Given the description of an element on the screen output the (x, y) to click on. 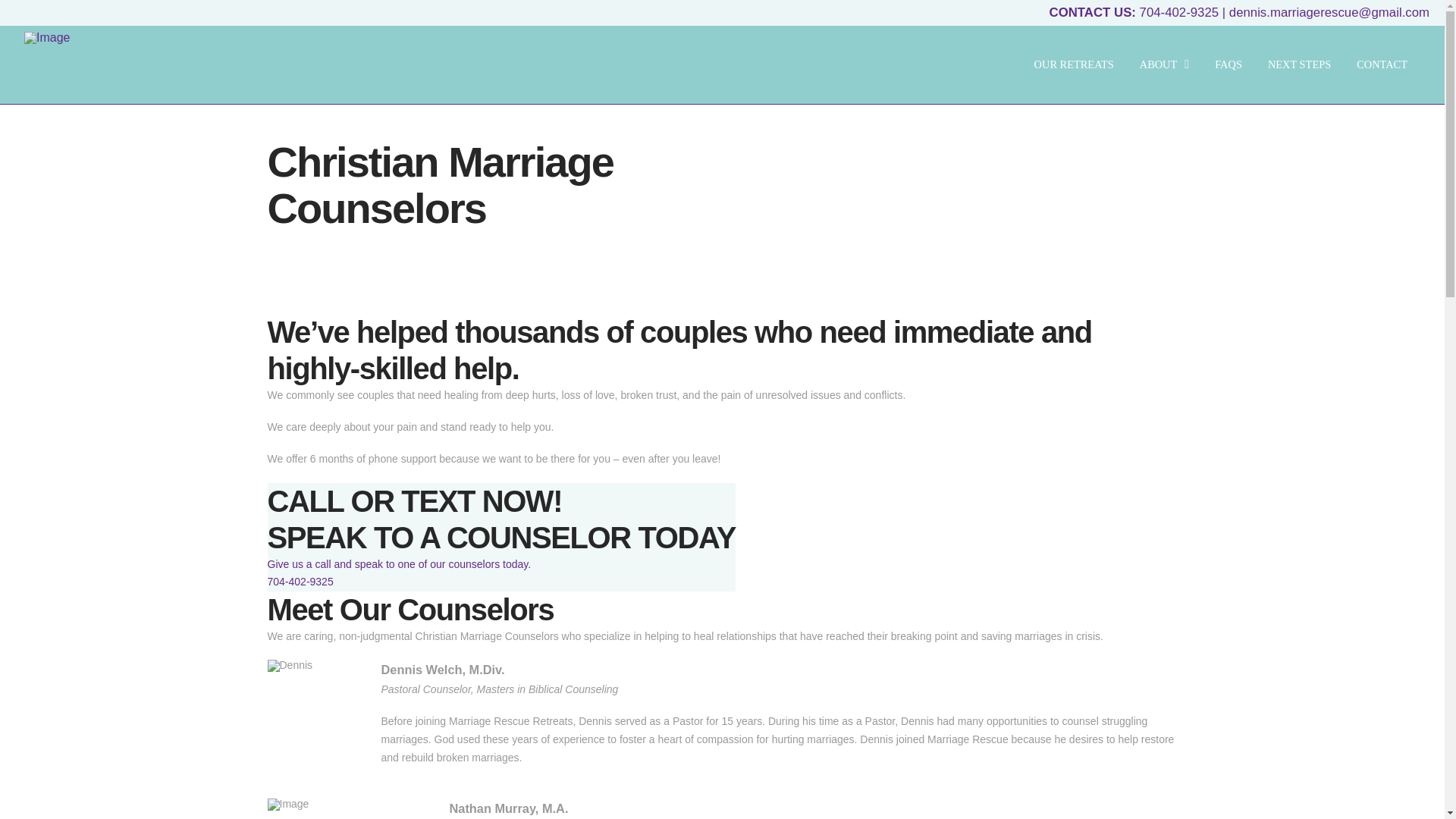
ABOUT (1164, 64)
CONTACT (1382, 64)
OUR RETREATS (1074, 64)
704-402-9325 (299, 582)
NEXT STEPS (1299, 64)
704-402-9325 (1180, 11)
